Given the description of an element on the screen output the (x, y) to click on. 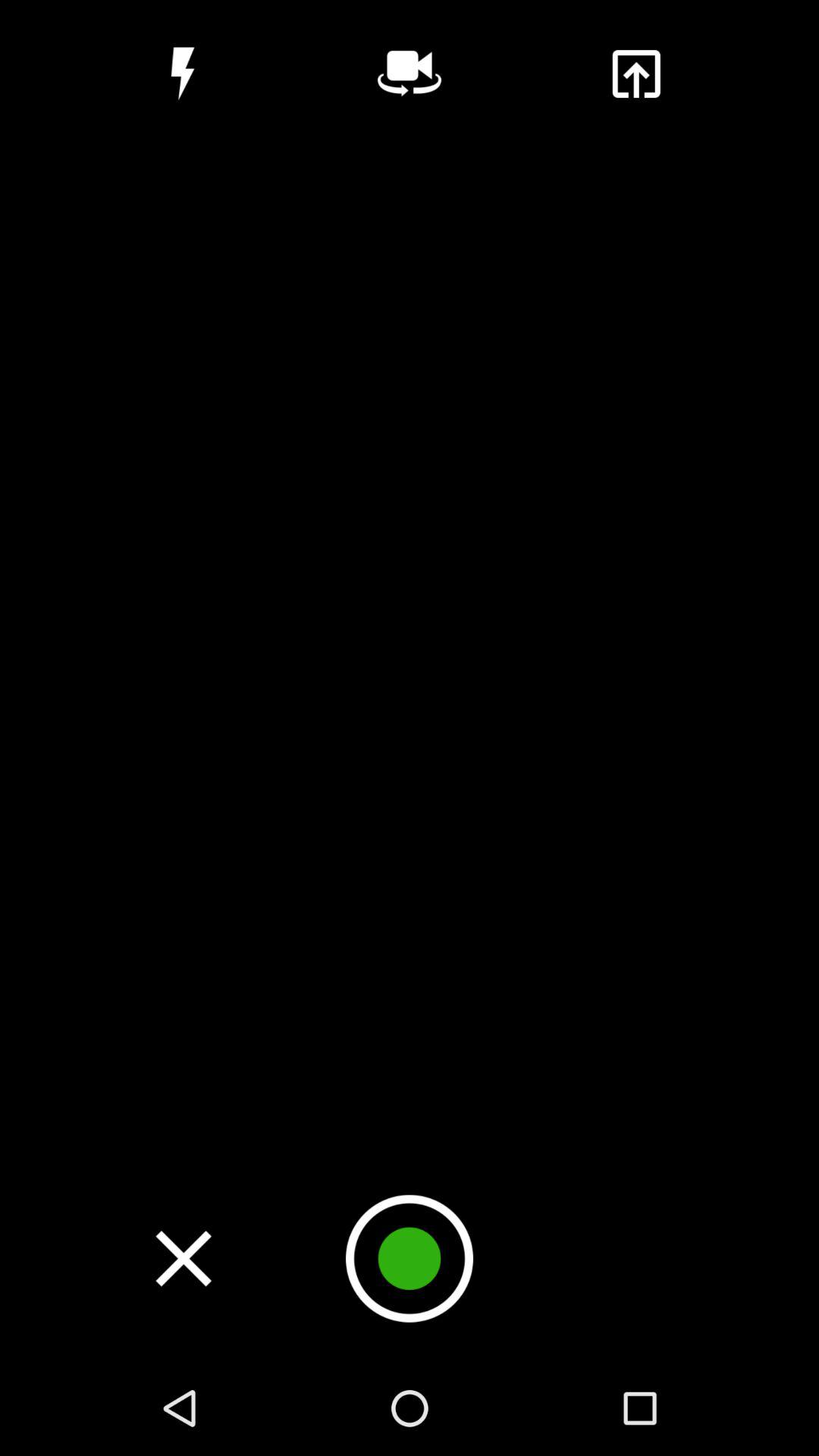
switch between front or back phone camera (409, 73)
